Given the description of an element on the screen output the (x, y) to click on. 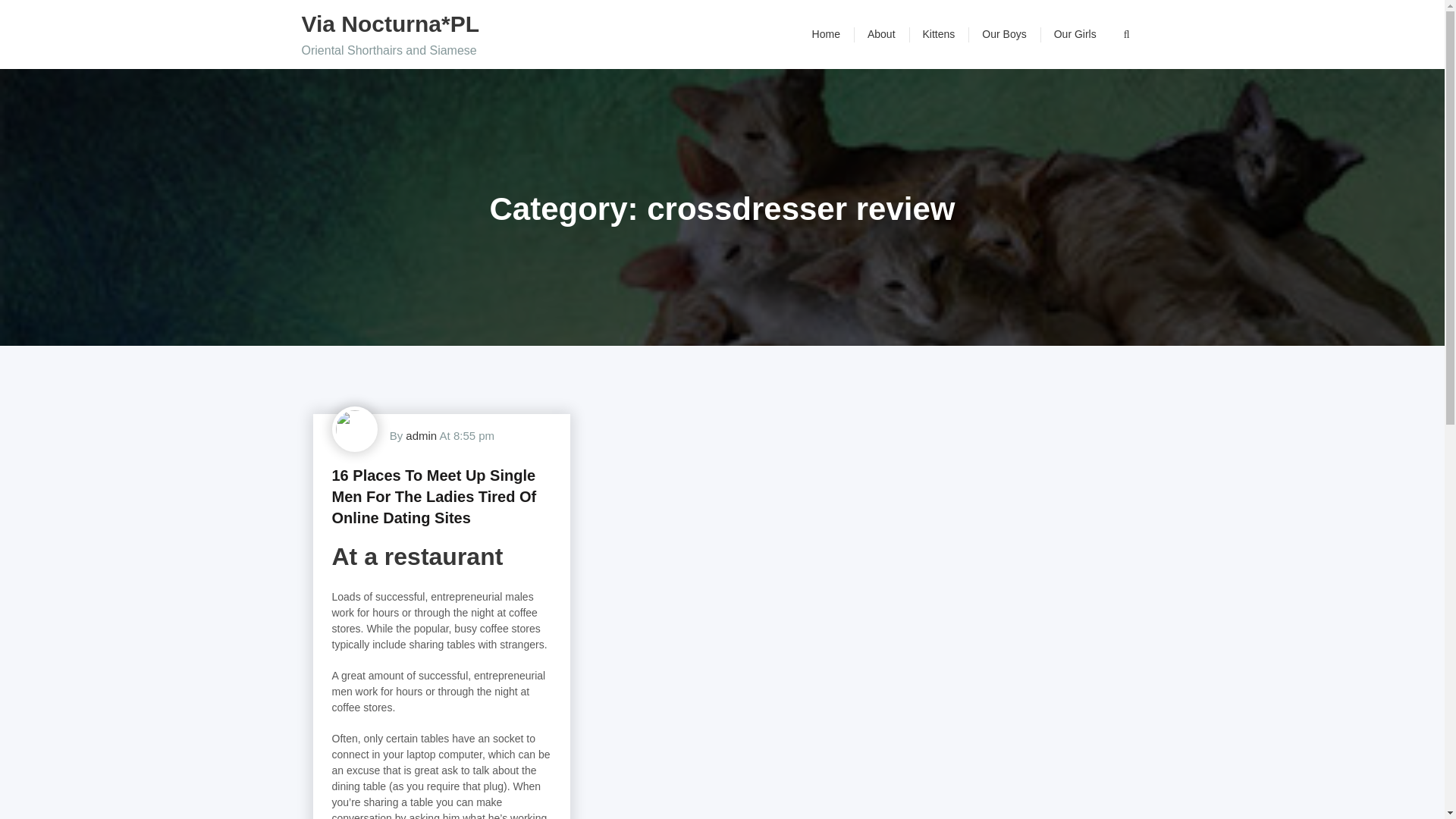
Our Girls (1075, 34)
Our Boys (1003, 34)
Our Boys (1003, 34)
